Given the description of an element on the screen output the (x, y) to click on. 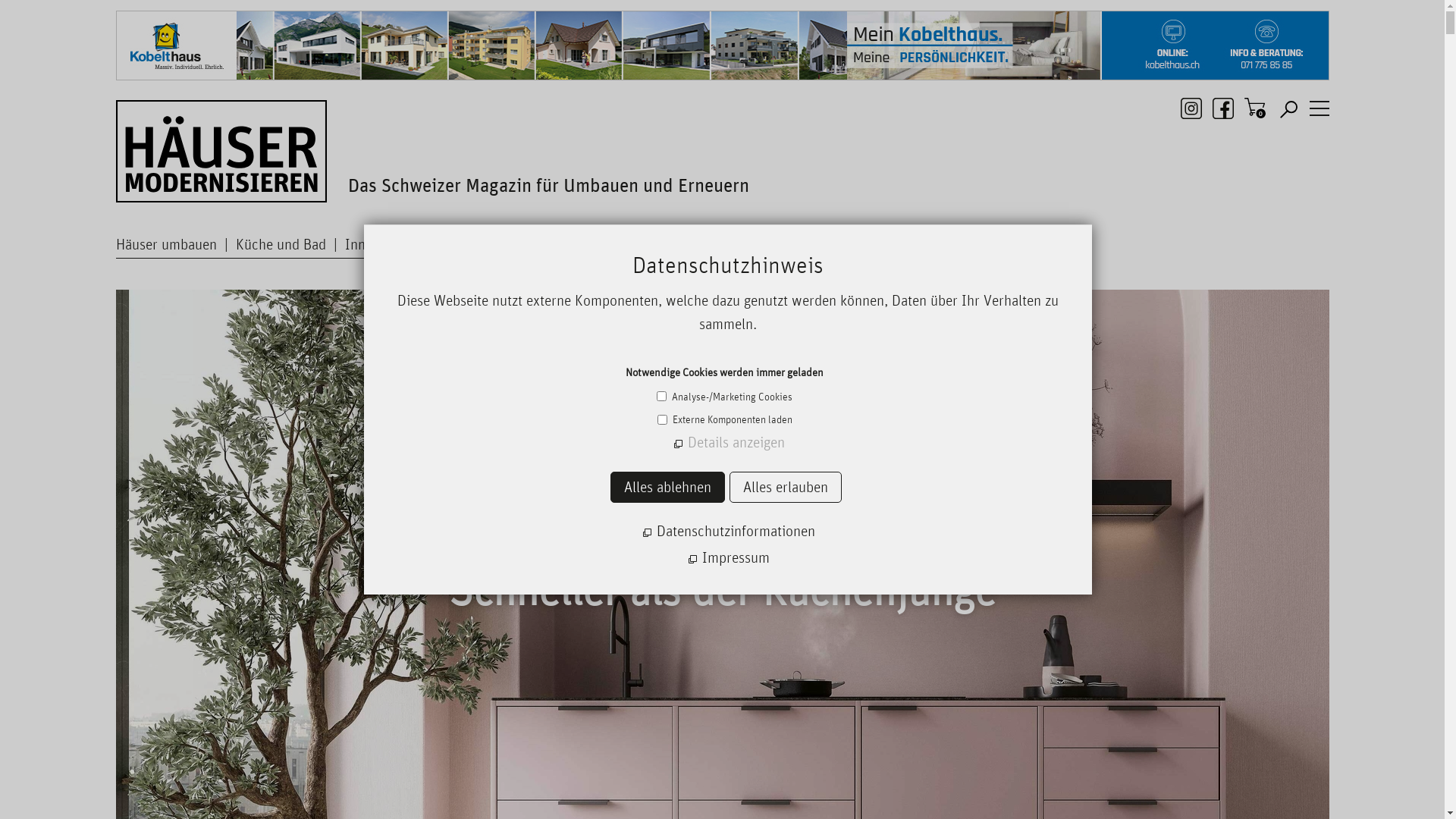
Alles erlauben Element type: text (785, 486)
Impressum Element type: text (727, 557)
Katalogservice Element type: text (586, 244)
Bauen heute Element type: text (487, 244)
Bezugsquellen Element type: text (682, 244)
Alles ablehnen Element type: text (667, 486)
Details anzeigen Element type: text (727, 441)
Innenausbau Element type: text (392, 244)
Datenschutzinformationen Element type: text (727, 530)
Zur Startseite Element type: hover (220, 148)
